Given the description of an element on the screen output the (x, y) to click on. 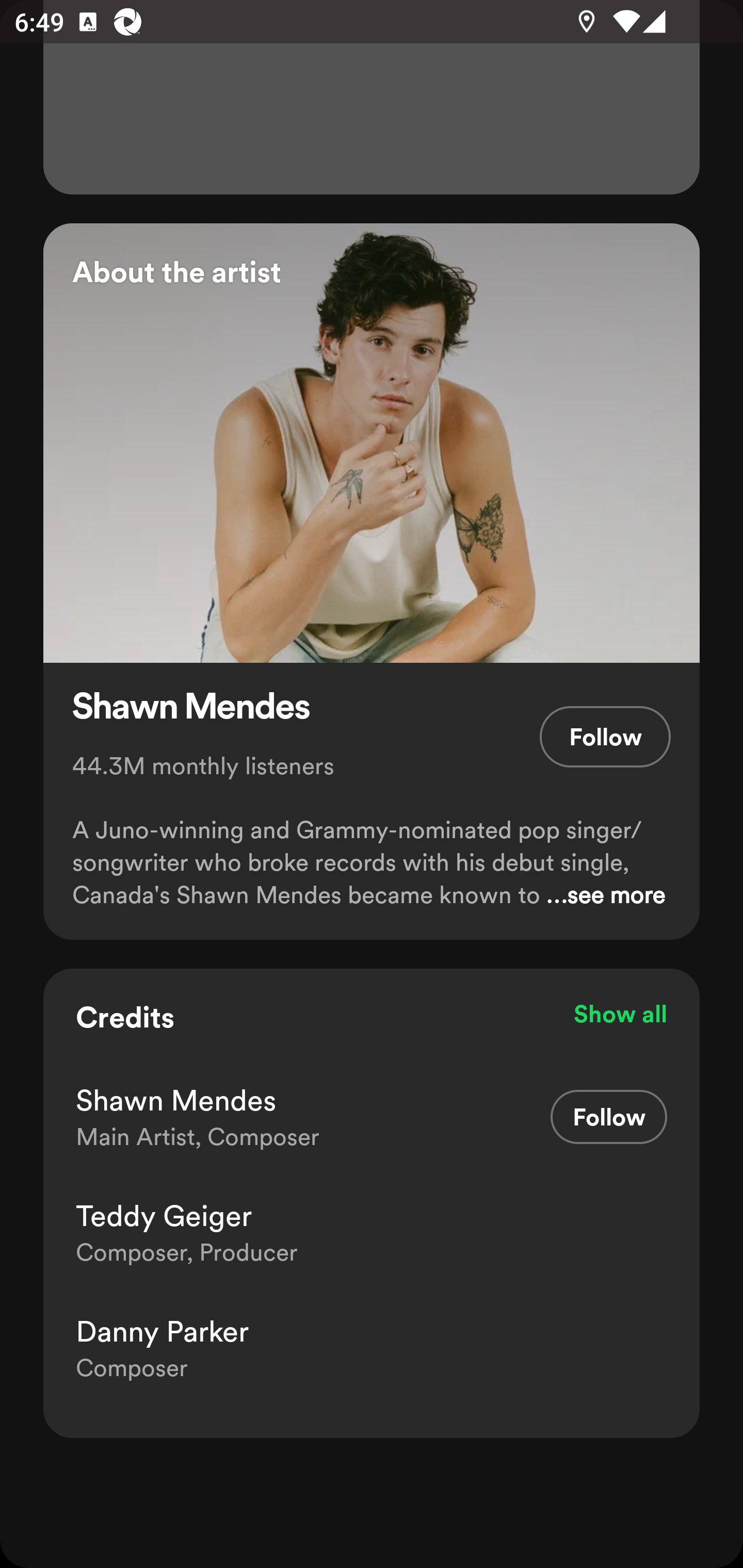
Follow Follow this Artist (604, 736)
Show all (620, 1013)
Shawn Mendes Main Artist, Composer Follow Follow (371, 1116)
Follow (608, 1116)
